Given the description of an element on the screen output the (x, y) to click on. 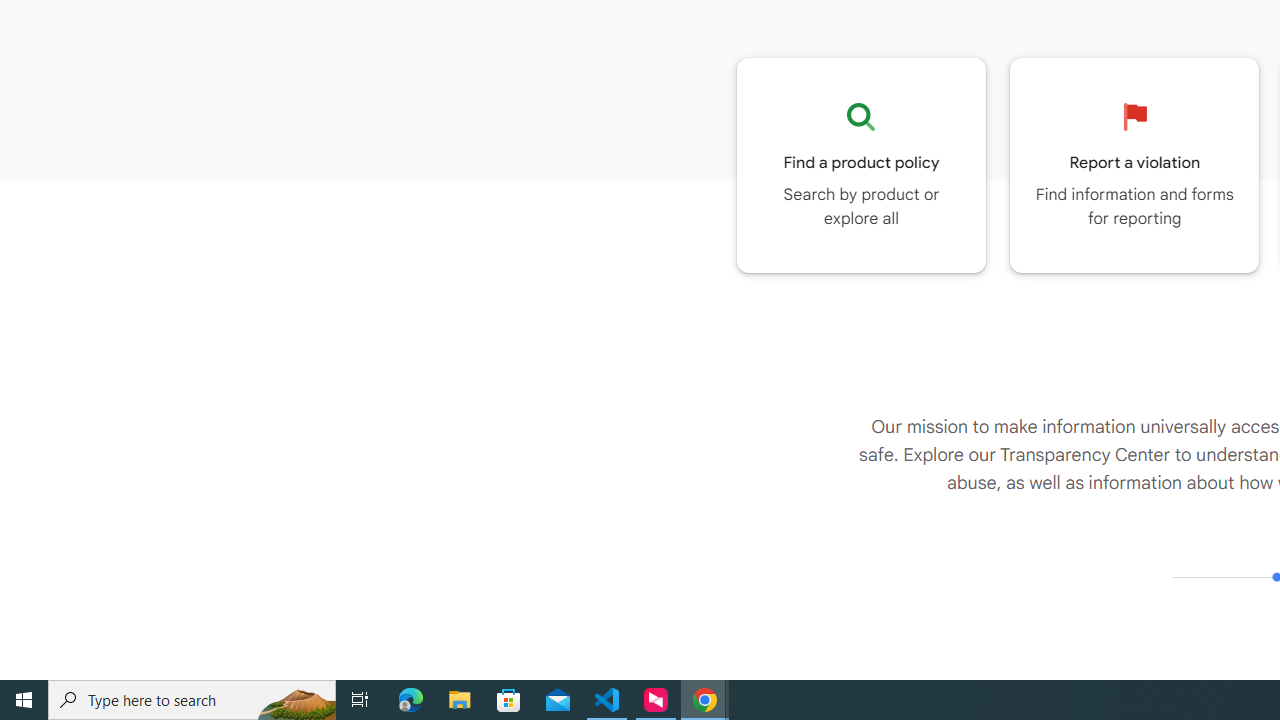
Go to the Product policy page (861, 165)
Go to the Reporting and appeals page (1134, 165)
